Given the description of an element on the screen output the (x, y) to click on. 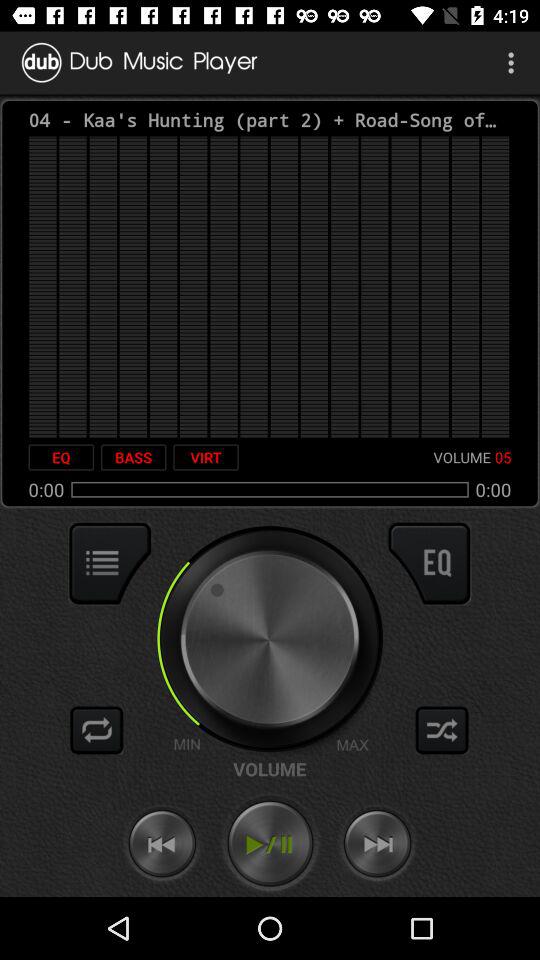
go to previous (162, 844)
